Given the description of an element on the screen output the (x, y) to click on. 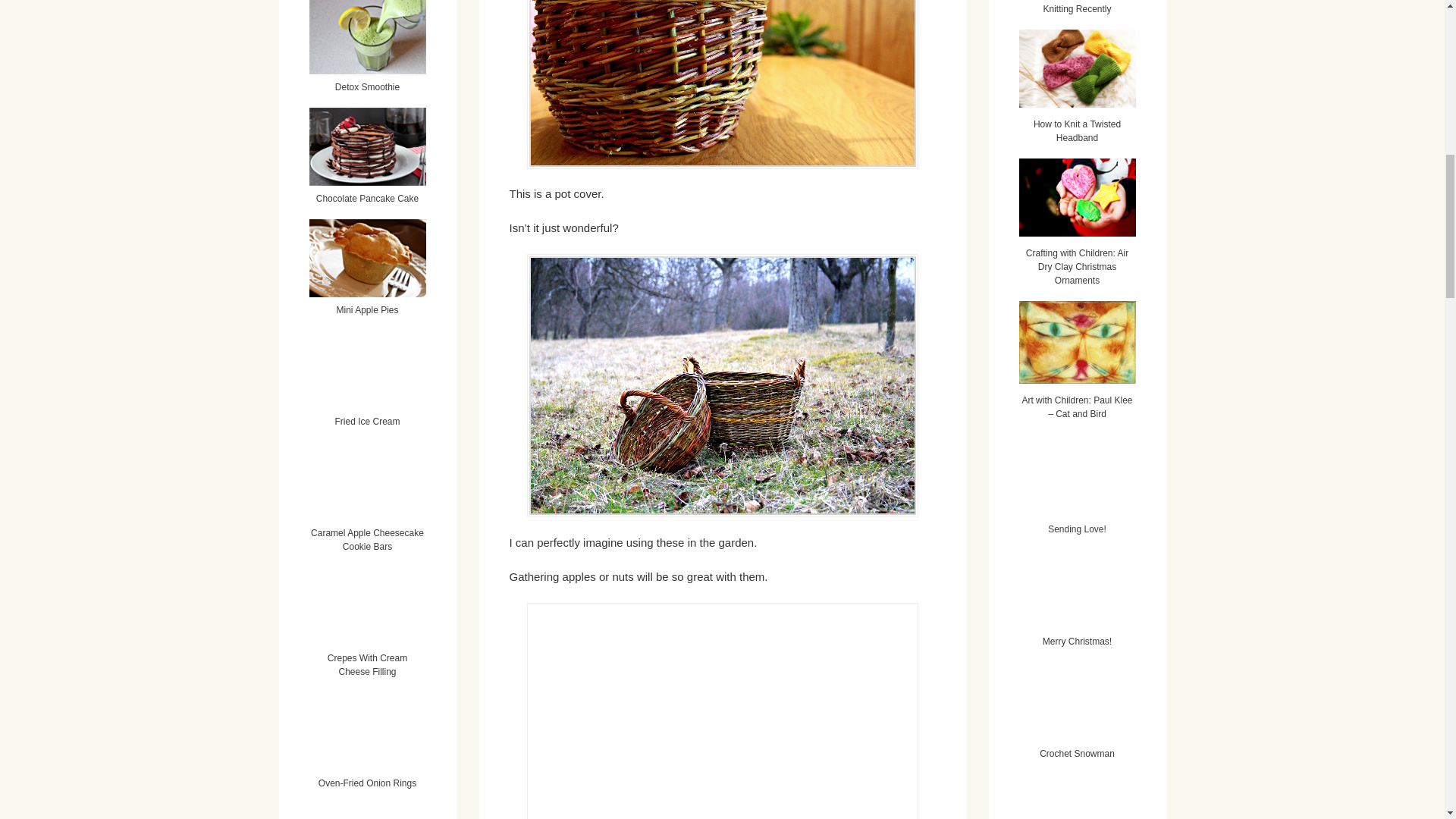
baskets in garden (721, 384)
basket in the garden (721, 710)
basket (721, 84)
